Given the description of an element on the screen output the (x, y) to click on. 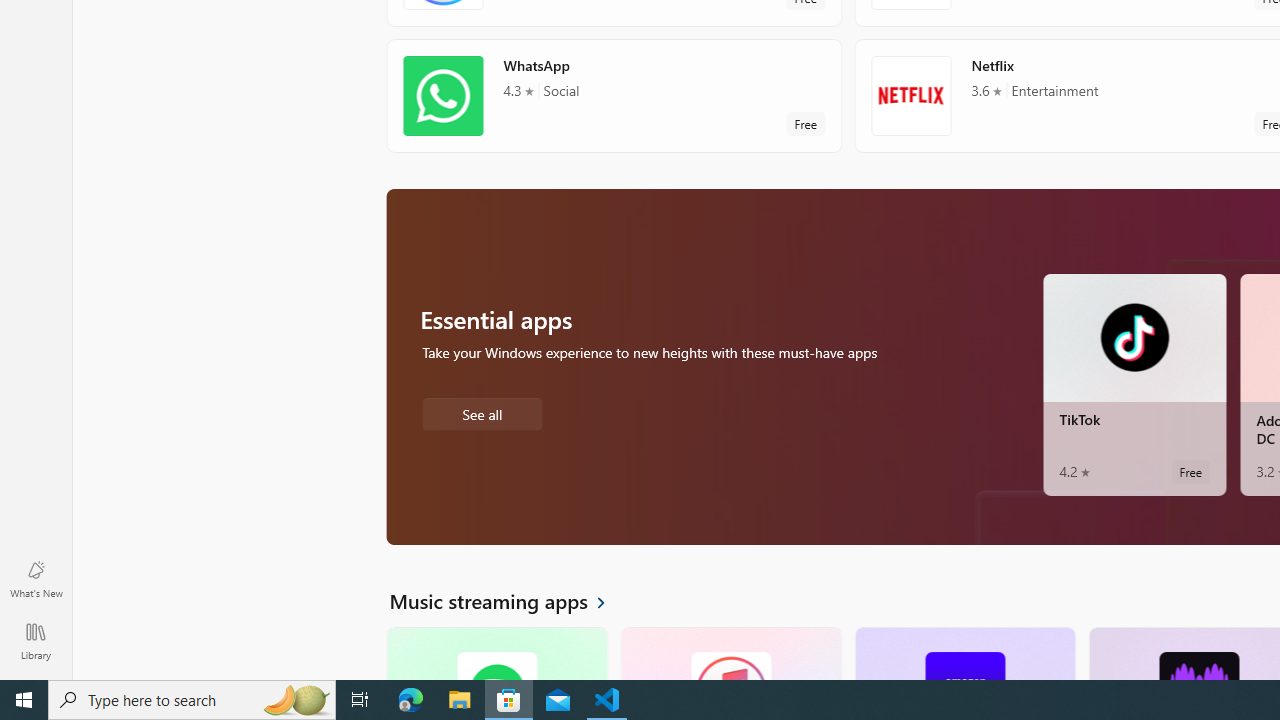
WhatsApp. Average rating of 4.3 out of five stars. Free   (614, 95)
What's New (35, 578)
Library (35, 640)
iTunes. Average rating of 2.5 out of five stars. Free   (730, 653)
See all  Essential apps (481, 412)
TikTok. Average rating of 4.2 out of five stars. Free   (1134, 384)
See all  Music streaming apps (509, 600)
